Given the description of an element on the screen output the (x, y) to click on. 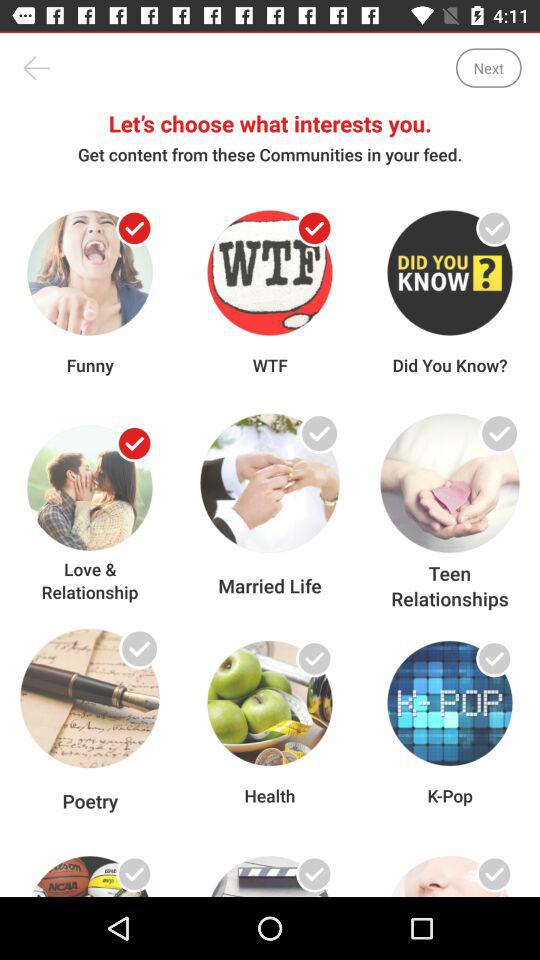
choose video as interest (494, 873)
